Given the description of an element on the screen output the (x, y) to click on. 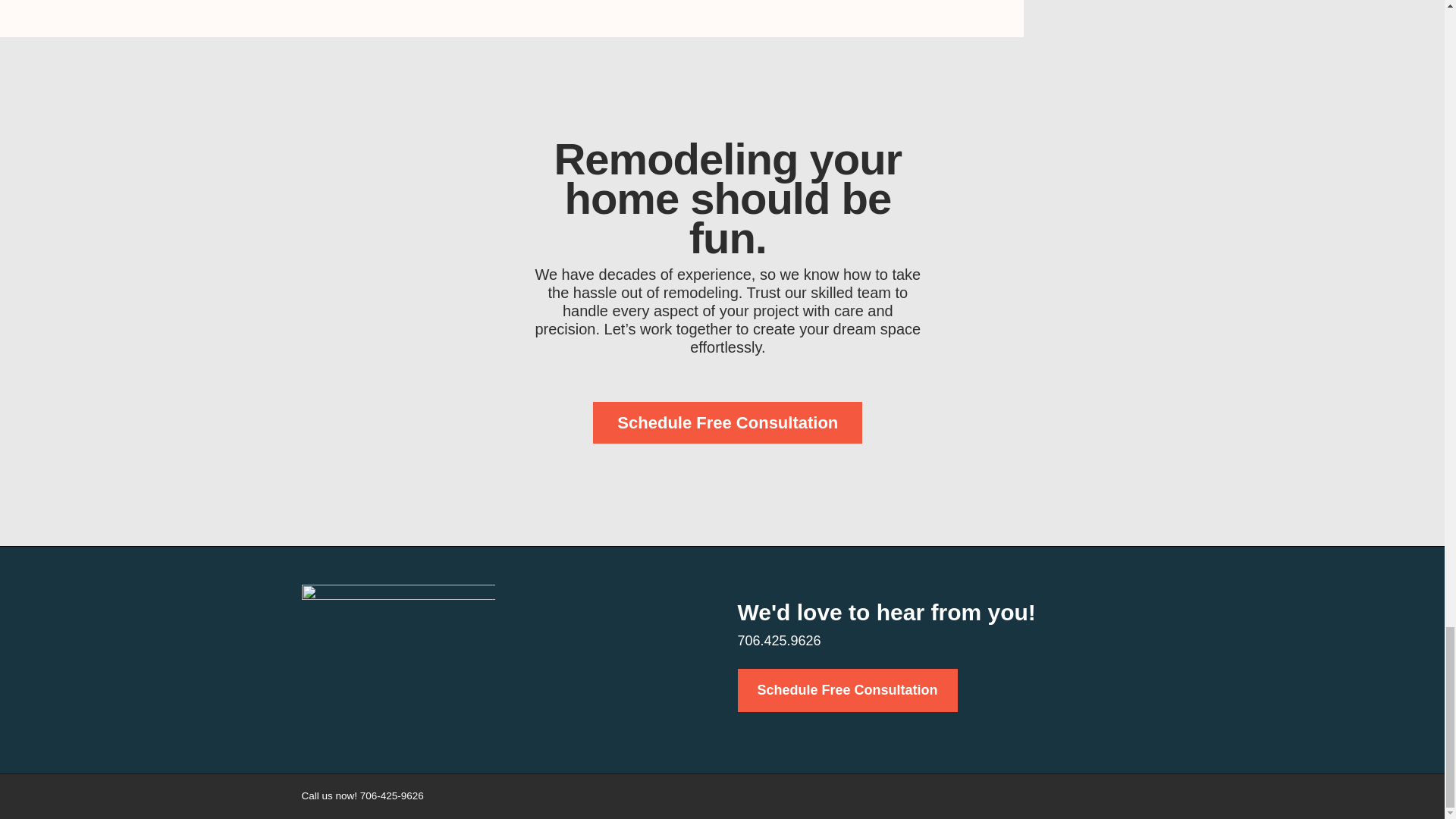
Schedule Free Consultation (726, 422)
Schedule Free Consultation (846, 690)
706.425.9626 (778, 640)
